Given the description of an element on the screen output the (x, y) to click on. 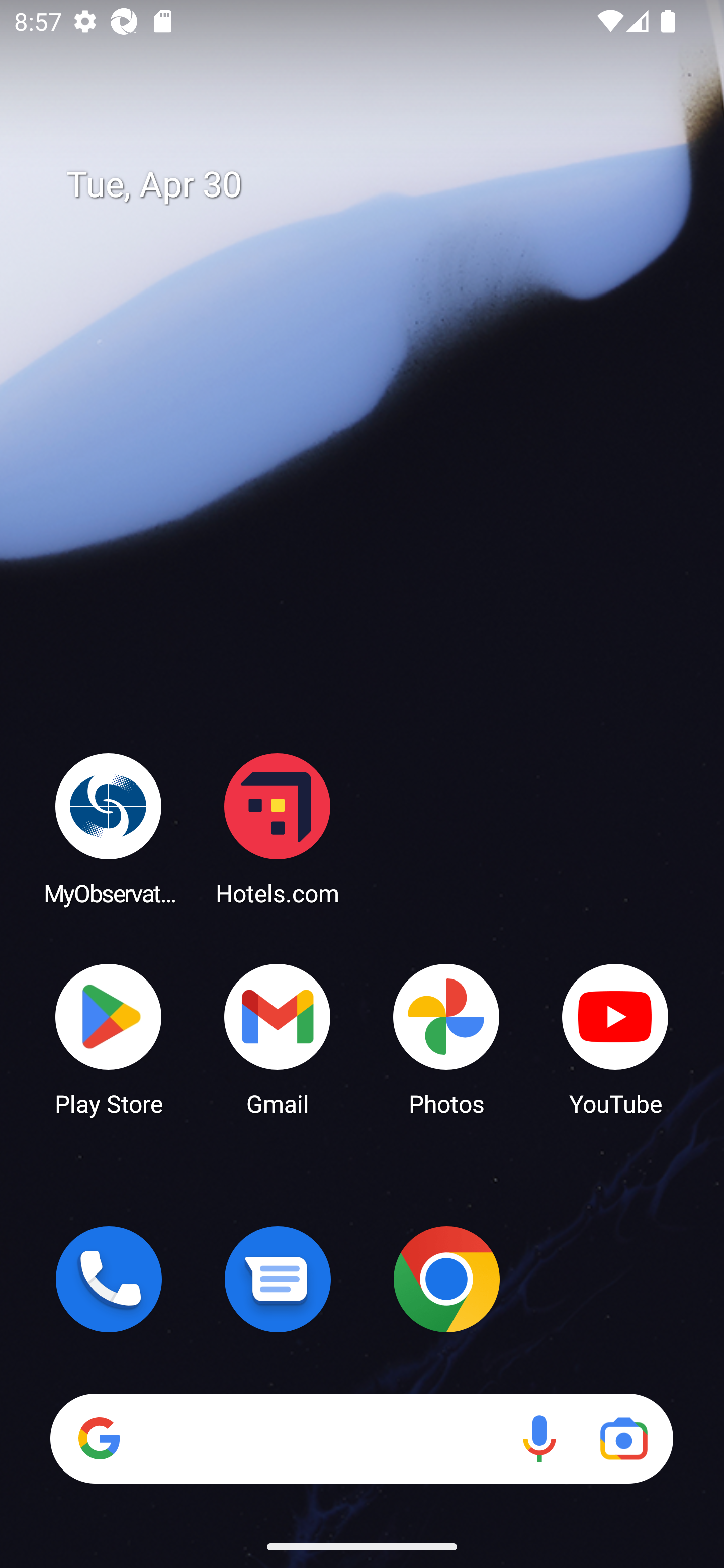
Tue, Apr 30 (375, 184)
MyObservatory (108, 828)
Hotels.com (277, 828)
Play Store (108, 1038)
Gmail (277, 1038)
Photos (445, 1038)
YouTube (615, 1038)
Phone (108, 1279)
Messages (277, 1279)
Chrome (446, 1279)
Voice search (539, 1438)
Google Lens (623, 1438)
